Given the description of an element on the screen output the (x, y) to click on. 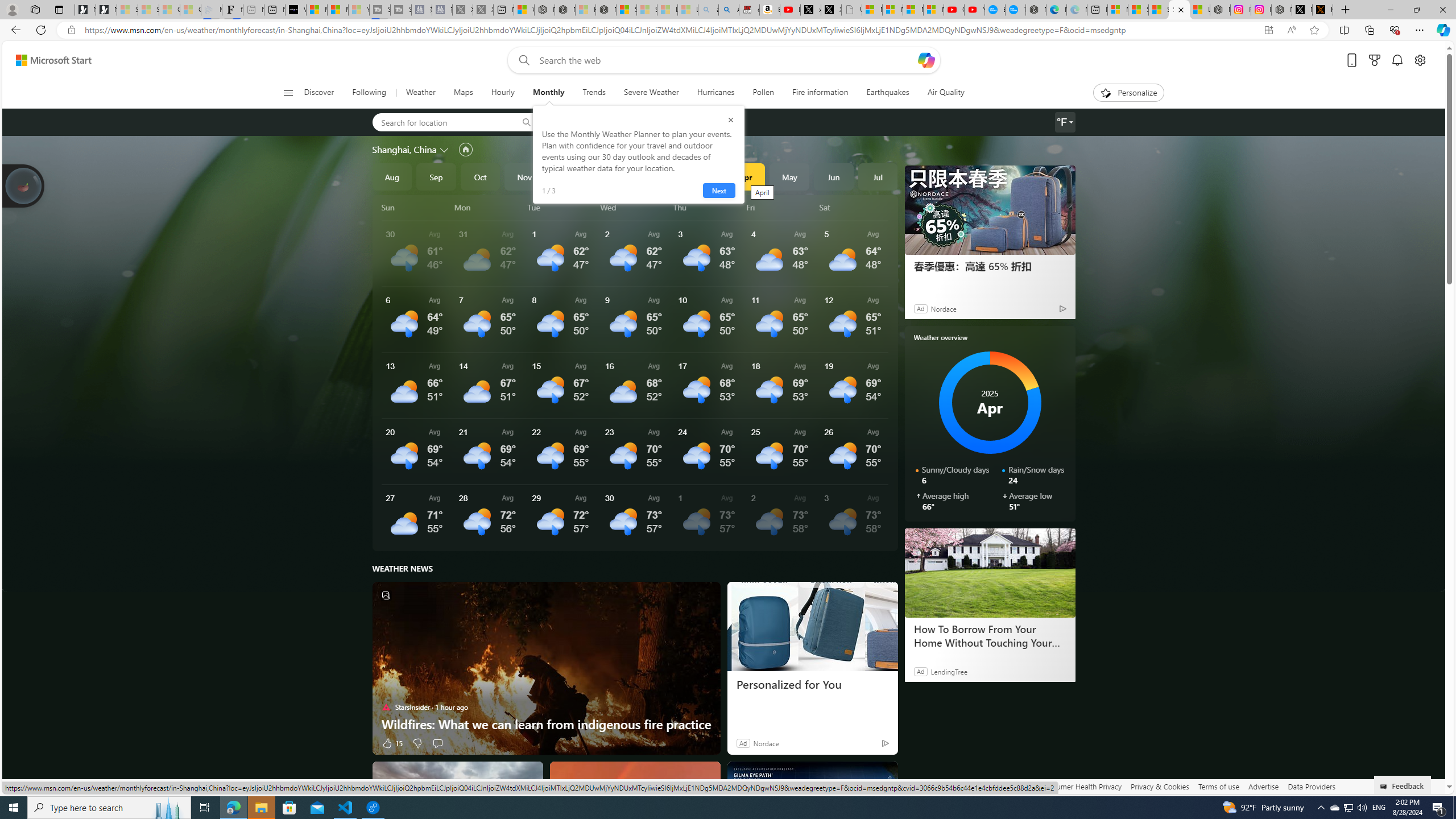
Thu (707, 207)
Ad (742, 742)
Day 1: Arriving in Yemen (surreal to be here) - YouTube (789, 9)
Following (370, 92)
Air Quality (940, 92)
Open Copilot (926, 59)
See More Details (853, 517)
Nov (523, 176)
Hourly (502, 92)
May (789, 176)
